Given the description of an element on the screen output the (x, y) to click on. 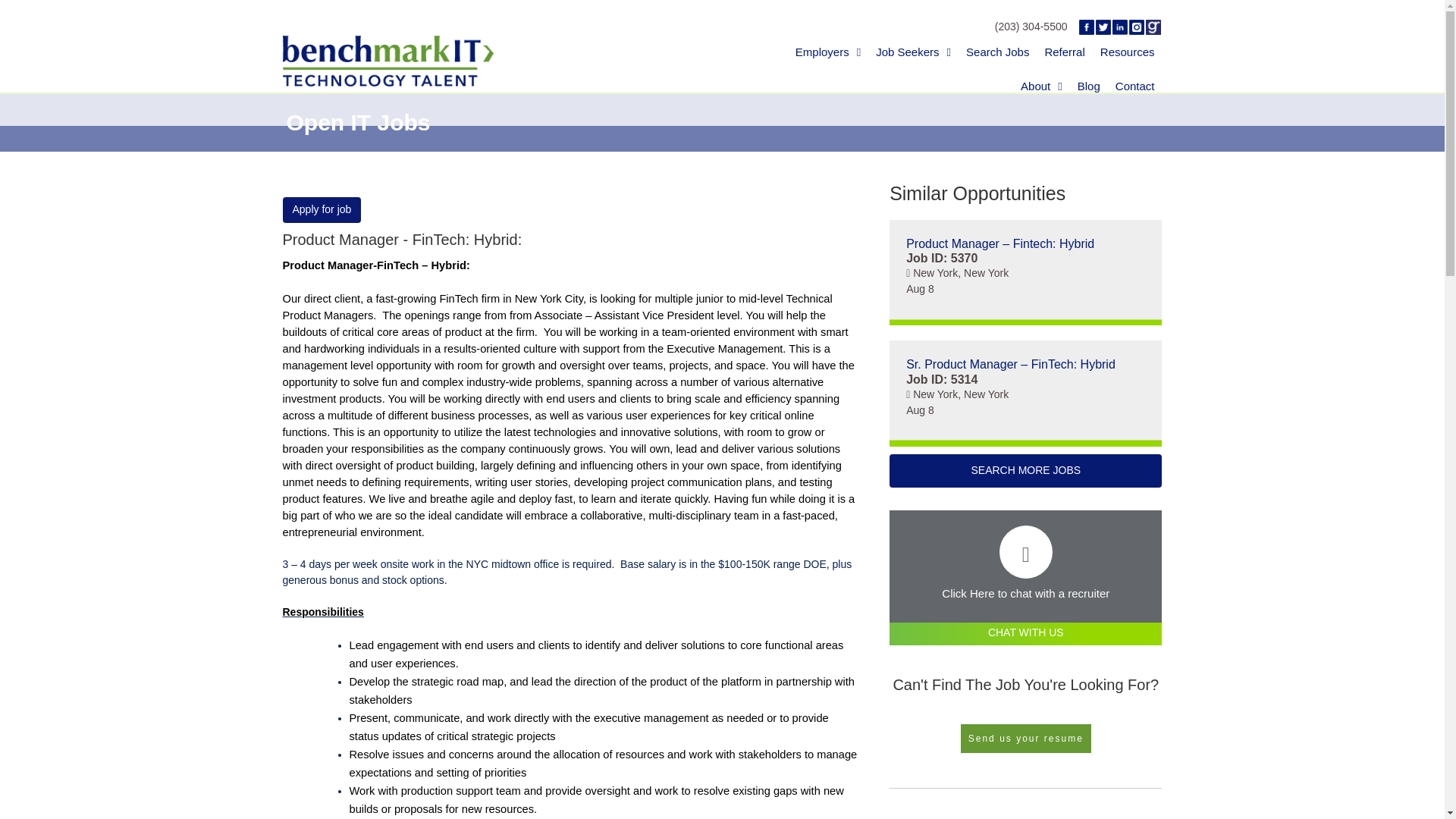
Employers (827, 51)
BIT-logo-color-041521 (387, 61)
About (1041, 85)
Resources (1127, 51)
Job Seekers (912, 51)
Search Jobs (997, 51)
Referral (1064, 51)
